Given the description of an element on the screen output the (x, y) to click on. 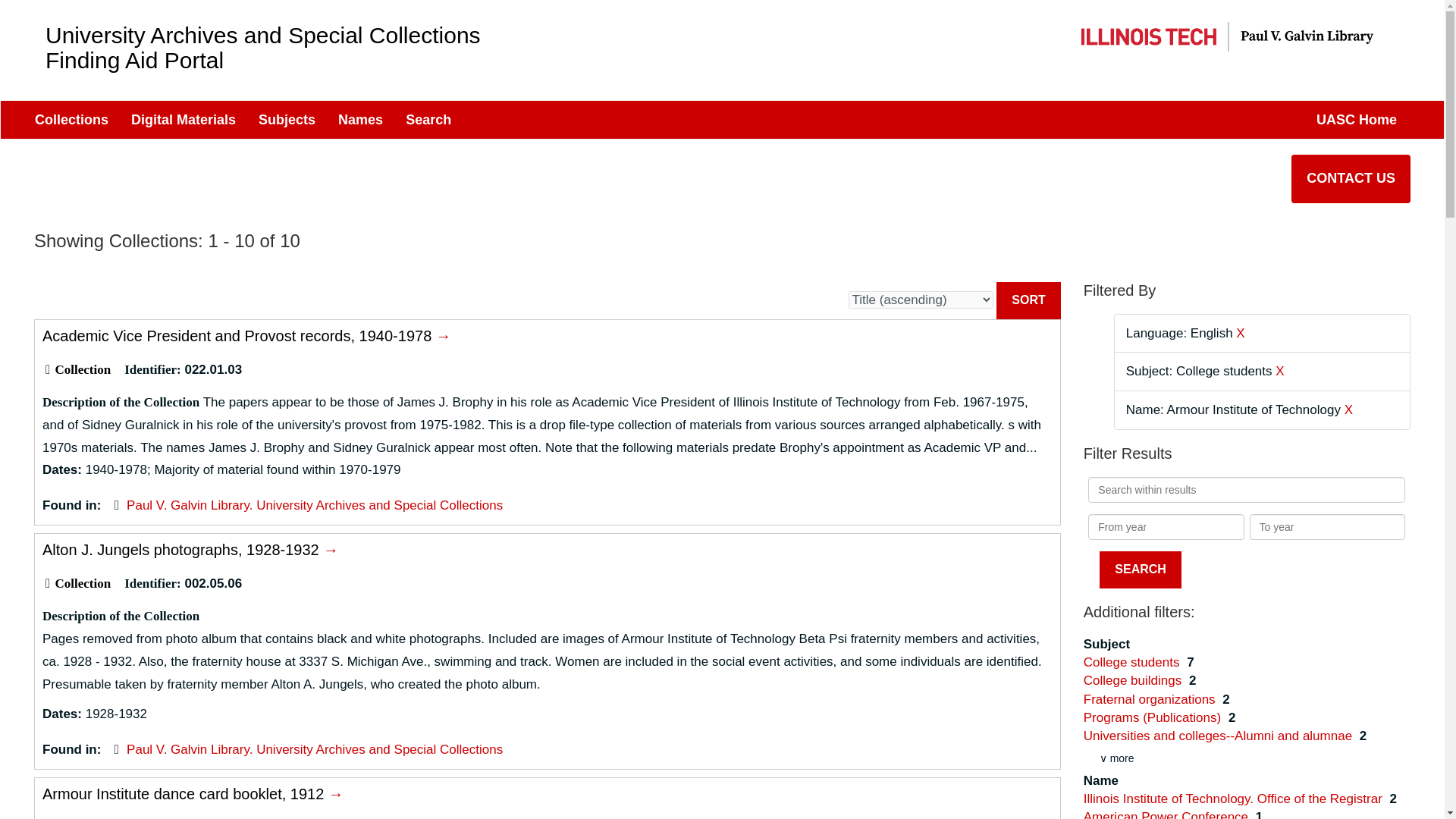
Search (1139, 569)
CONTACT US (1350, 178)
Academic Vice President and Provost records, 1940-1978 (246, 335)
Collections (71, 119)
Sort (1027, 300)
UASC Home (1355, 119)
Filter By 'College buildings' (1134, 680)
Names (360, 119)
Sort (428, 119)
